Given the description of an element on the screen output the (x, y) to click on. 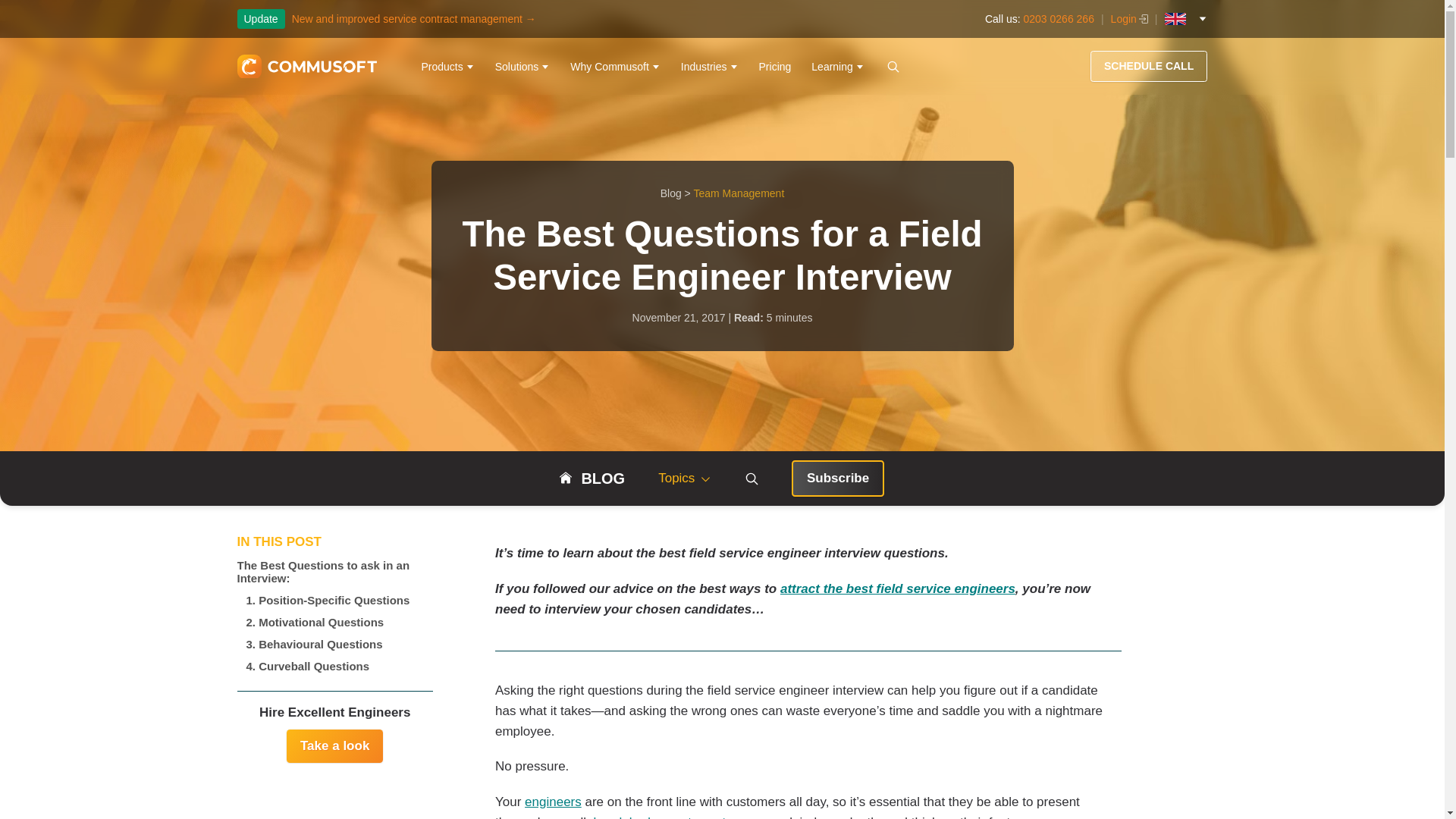
The Best Questions to ask in an Interview: (333, 571)
3. Behavioural Questions (333, 644)
Commusoft (305, 66)
1. Position-Specific Questions (333, 599)
4. Curveball Questions (333, 666)
2. Motivational Questions (333, 621)
Products (446, 66)
